Given the description of an element on the screen output the (x, y) to click on. 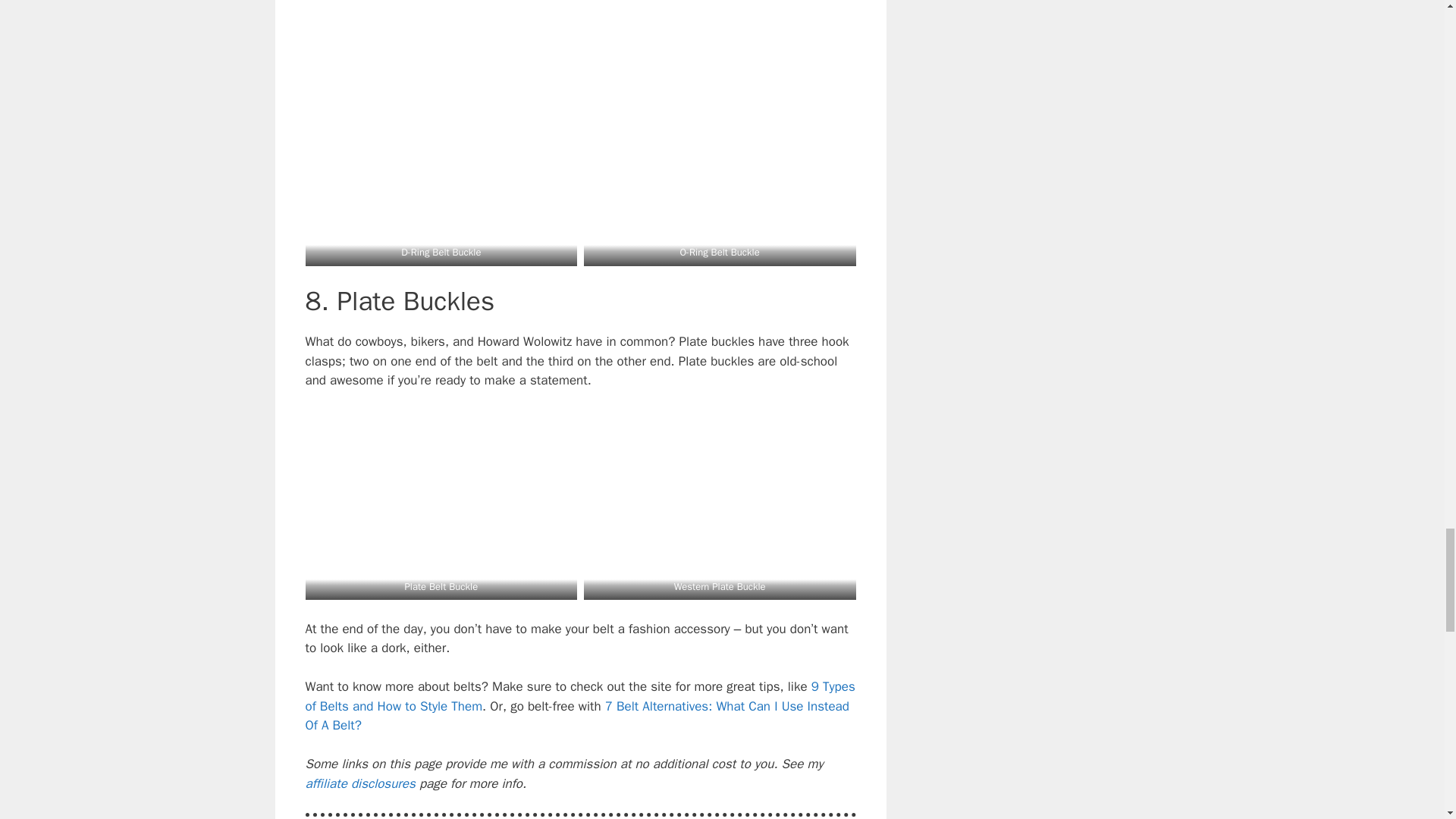
Plate Belt Buckle (441, 585)
O-Ring Belt Buckle (719, 251)
D-Ring Belt Buckle (440, 251)
9 Types of Belts and How to Style Them (579, 696)
Western Plate Buckle (719, 585)
